Given the description of an element on the screen output the (x, y) to click on. 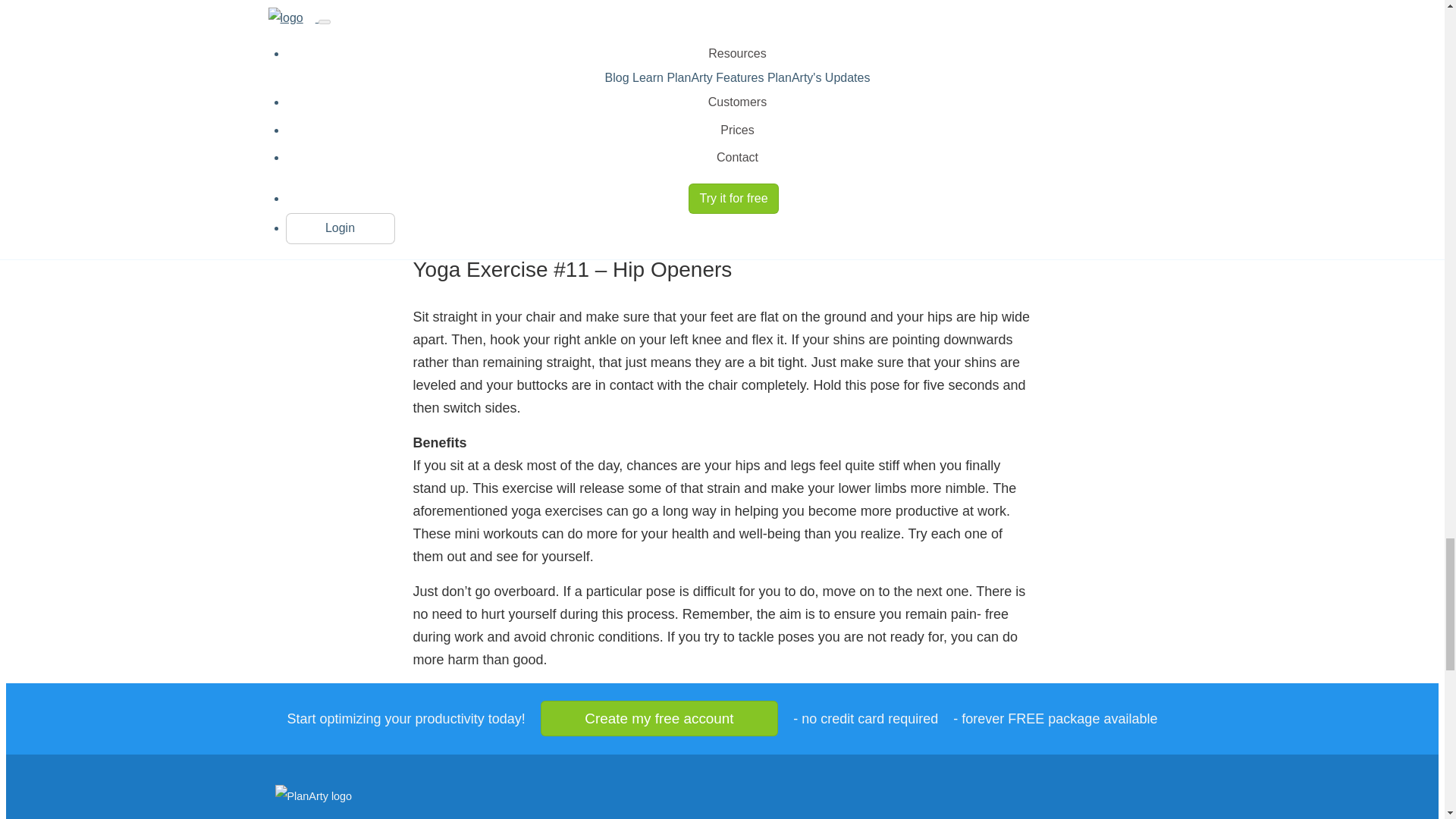
Create my free account (659, 718)
